Given the description of an element on the screen output the (x, y) to click on. 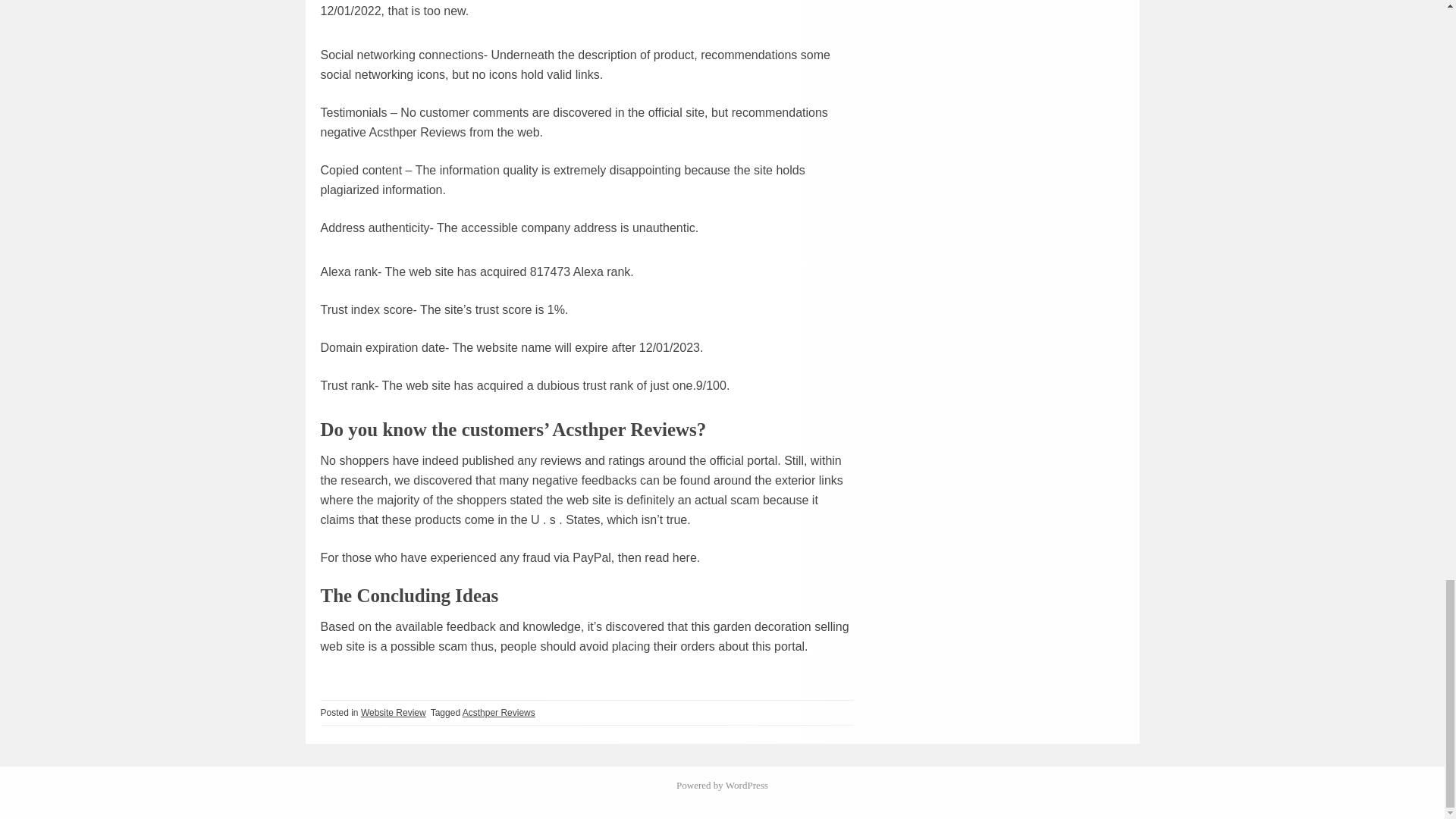
Acsthper Reviews (499, 712)
Website Review (393, 712)
